Given the description of an element on the screen output the (x, y) to click on. 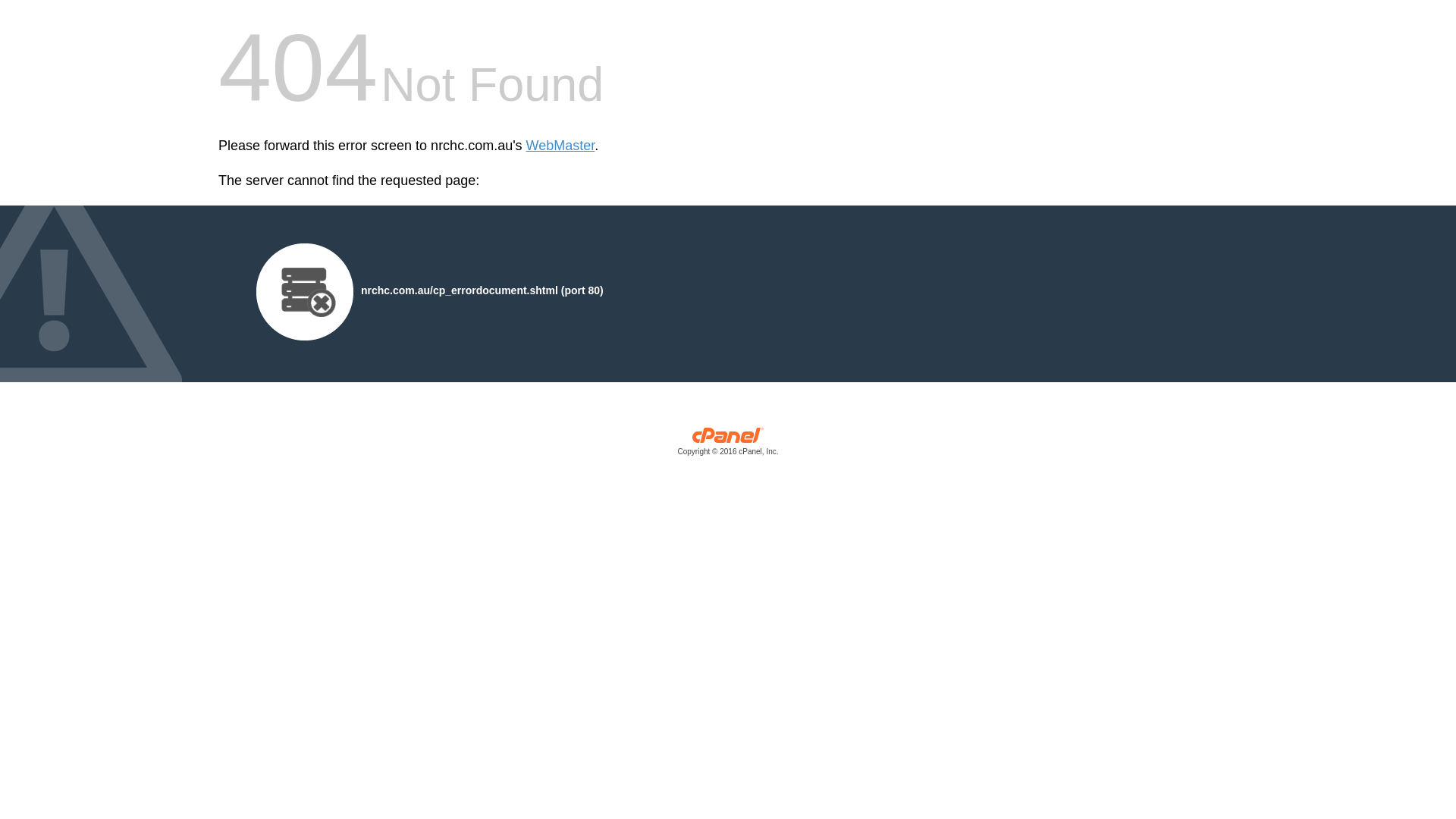
WebMaster Element type: text (560, 145)
